Given the description of an element on the screen output the (x, y) to click on. 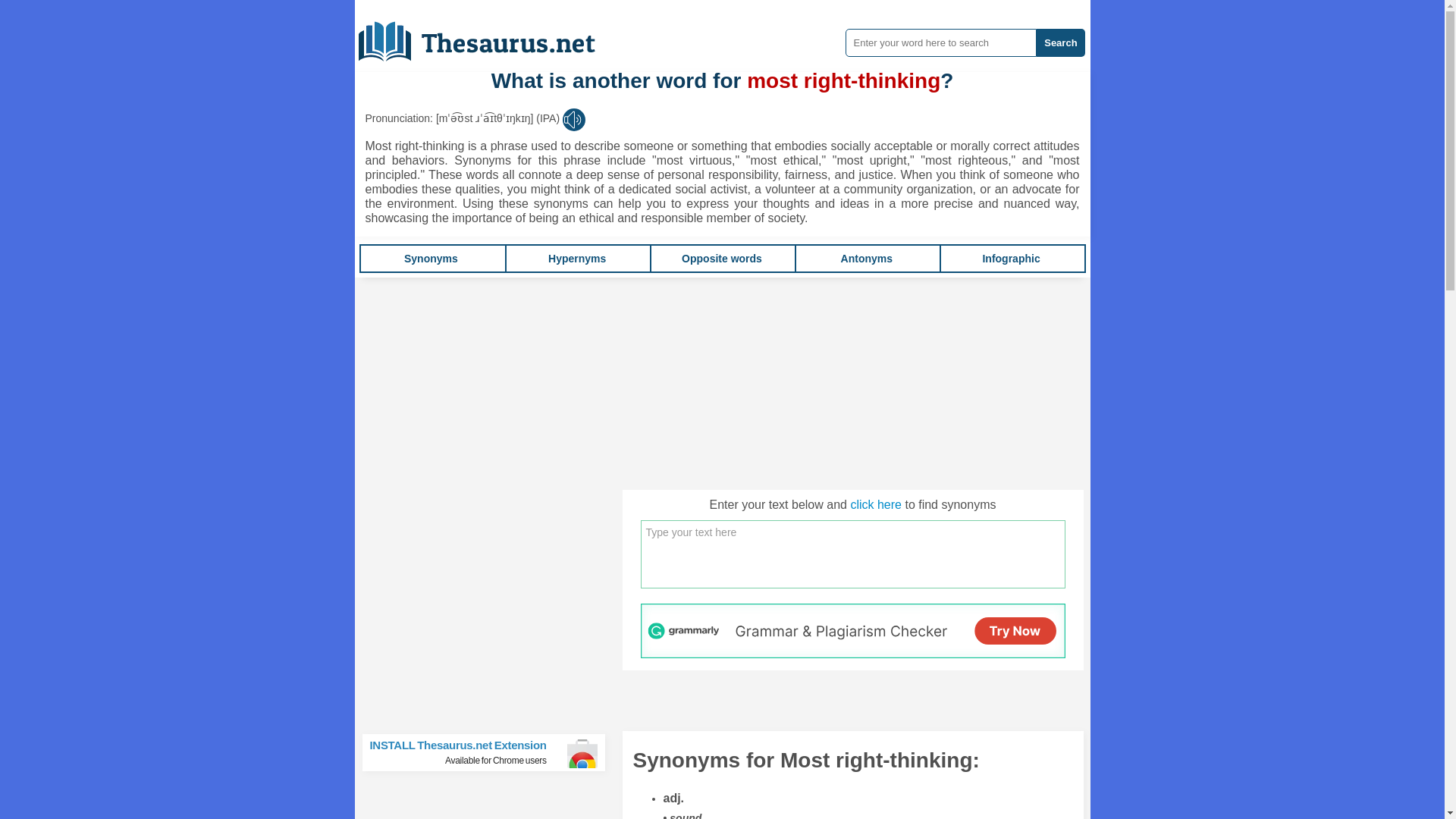
Infographic (1010, 258)
Opposite words (721, 258)
Infographic (1010, 258)
Hypernyms (576, 258)
Antonyms (866, 258)
Opposite words (721, 258)
Antonyms (866, 258)
Search (1060, 42)
click here (875, 504)
Thesaurus.net (487, 35)
